Given the description of an element on the screen output the (x, y) to click on. 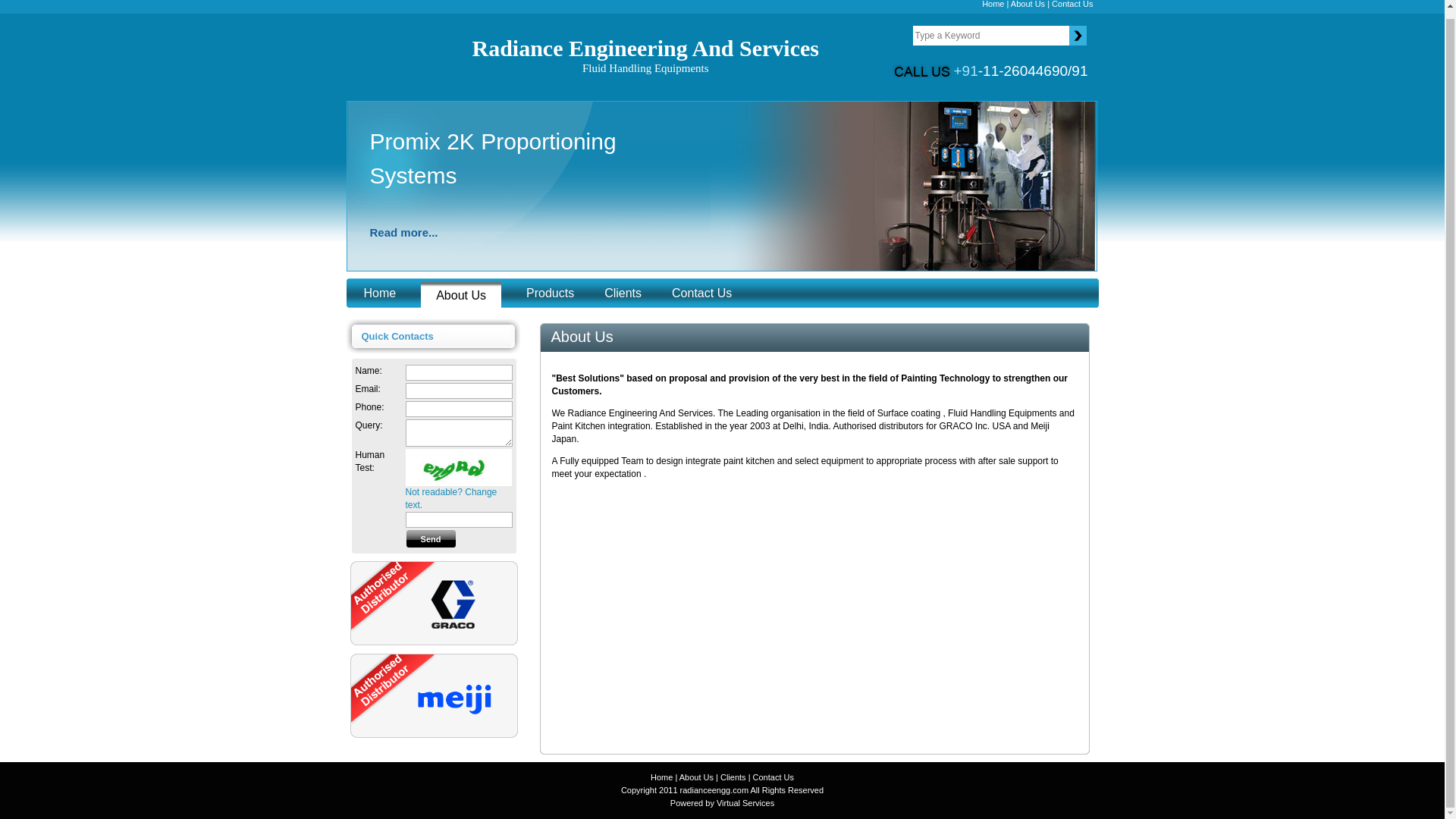
Send (430, 538)
Radiance Engineering And Services (644, 57)
Read more... (529, 232)
Contact Us (701, 292)
About Us (460, 294)
meiji (455, 698)
Contact Us (772, 777)
Type a Keyword (990, 35)
Home (380, 292)
